Given the description of an element on the screen output the (x, y) to click on. 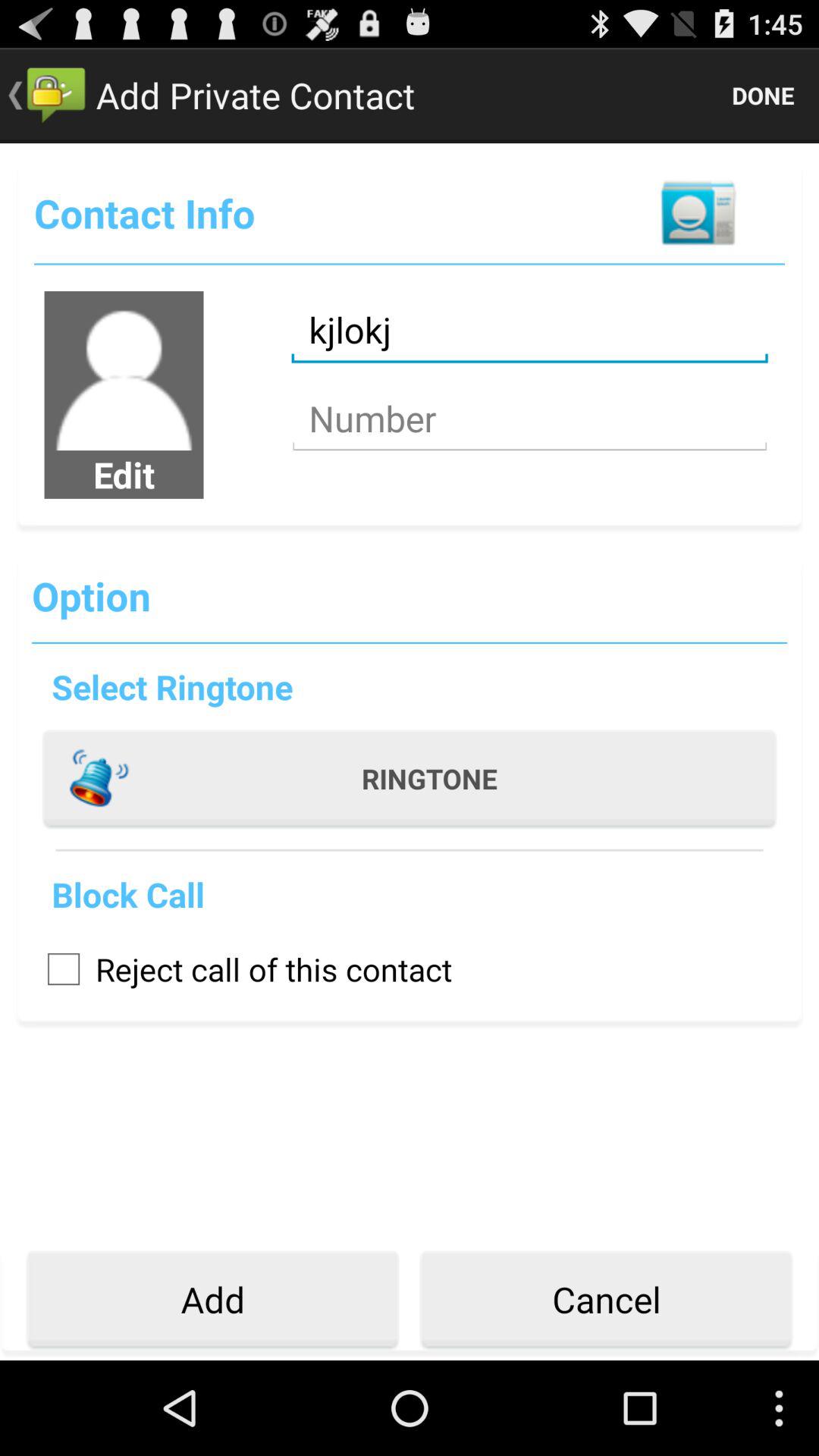
click to contact (697, 213)
